Given the description of an element on the screen output the (x, y) to click on. 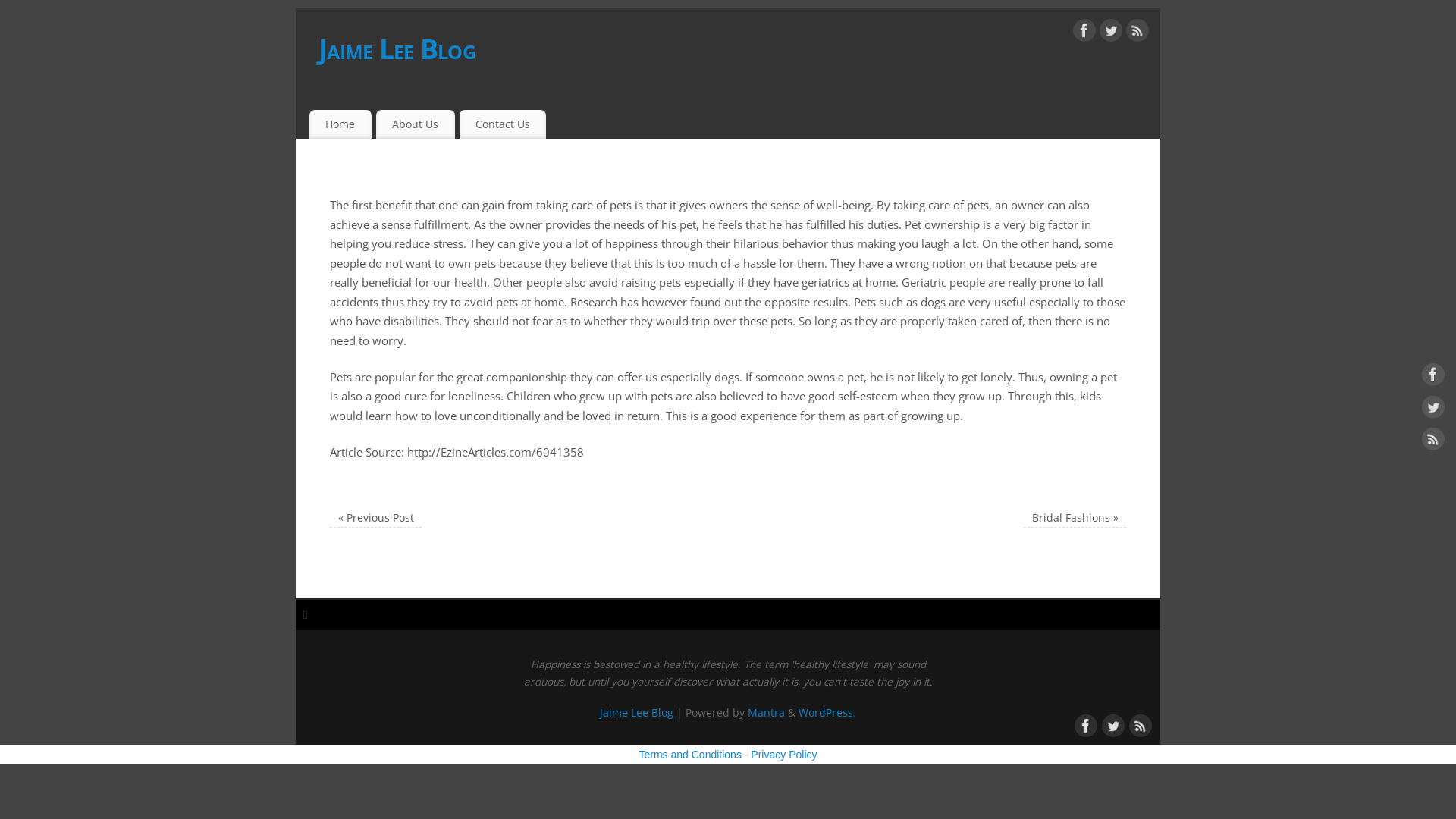
RSS Element type: hover (1138, 724)
Jaime Lee Blog Element type: text (739, 49)
Terms and Conditions Element type: text (689, 754)
Mantra Element type: text (765, 712)
Facebook Element type: hover (1432, 377)
RSS Element type: hover (1137, 32)
Twitter Element type: hover (1111, 724)
WordPress. Element type: text (827, 712)
Home Element type: text (340, 123)
About Us Element type: text (415, 123)
Twitter Element type: hover (1432, 409)
RSS Element type: hover (1432, 441)
Facebook Element type: hover (1084, 32)
Contact Us Element type: text (502, 123)
Jaime Lee Blog Element type: text (636, 712)
Facebook Element type: hover (1084, 724)
Twitter Element type: hover (1110, 32)
Privacy Policy Element type: text (783, 754)
